Given the description of an element on the screen output the (x, y) to click on. 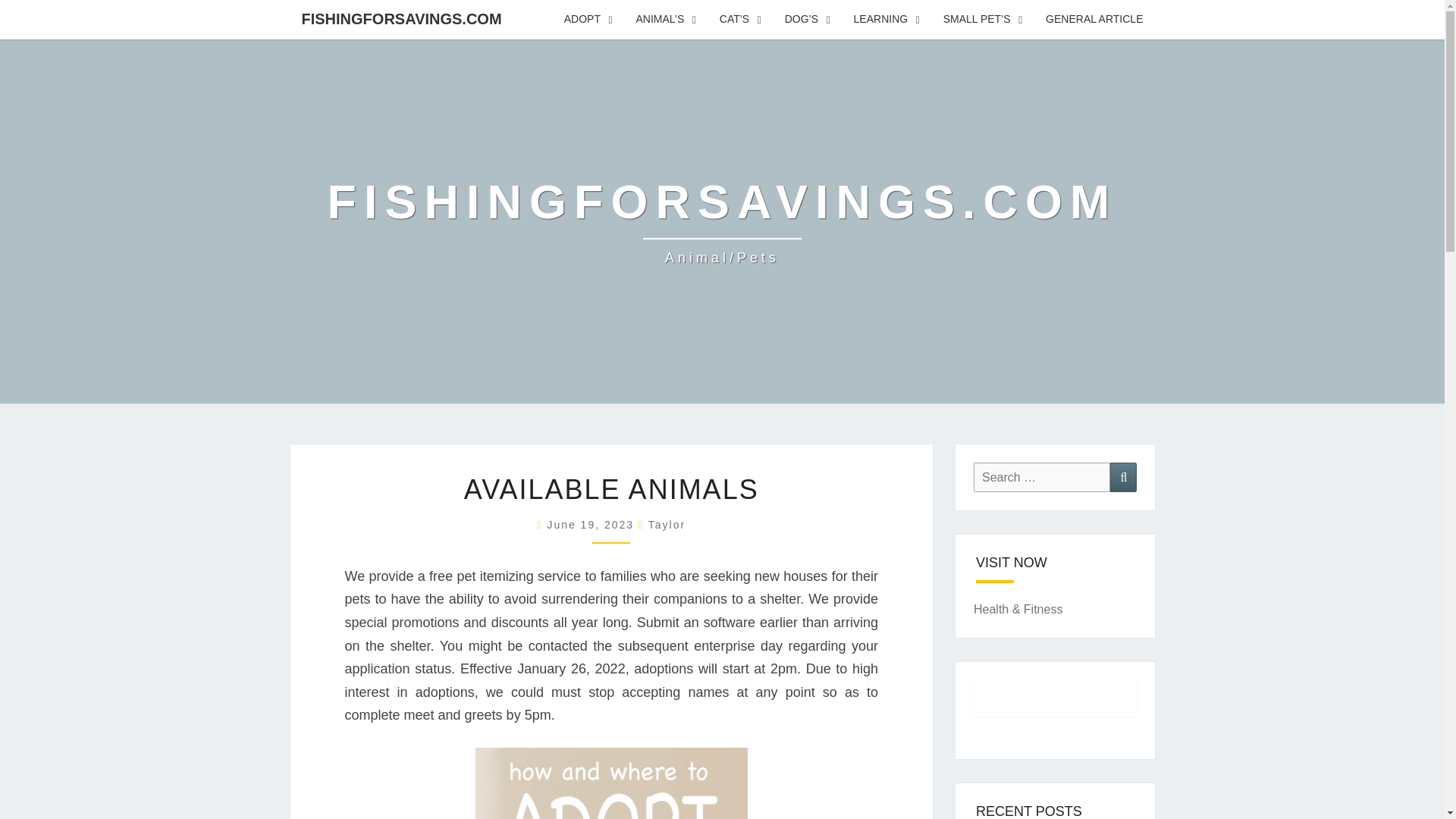
GENERAL ARTICLE (1093, 19)
FISHINGFORSAVINGS.COM (400, 18)
5:11 am (593, 524)
View all posts by Taylor (666, 524)
FishingForSavings.com (722, 221)
Search for: (1041, 477)
June 19, 2023 (593, 524)
ADOPT (588, 19)
LEARNING (887, 19)
